Given the description of an element on the screen output the (x, y) to click on. 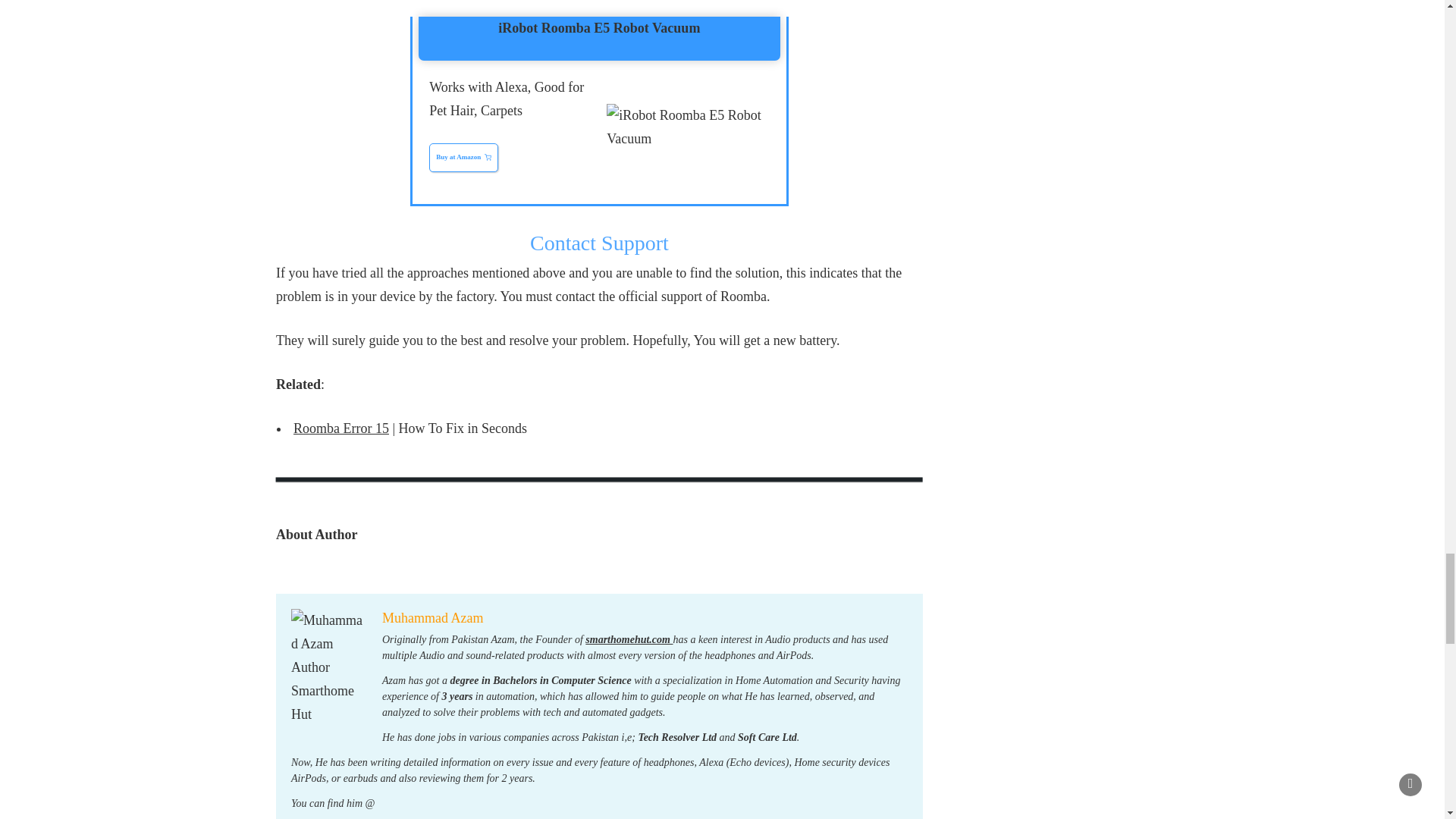
Muhammad Azam (432, 617)
Roomba Error 15 (341, 427)
smarthomehut.com (628, 639)
Buy at Amazon (463, 157)
